Given the description of an element on the screen output the (x, y) to click on. 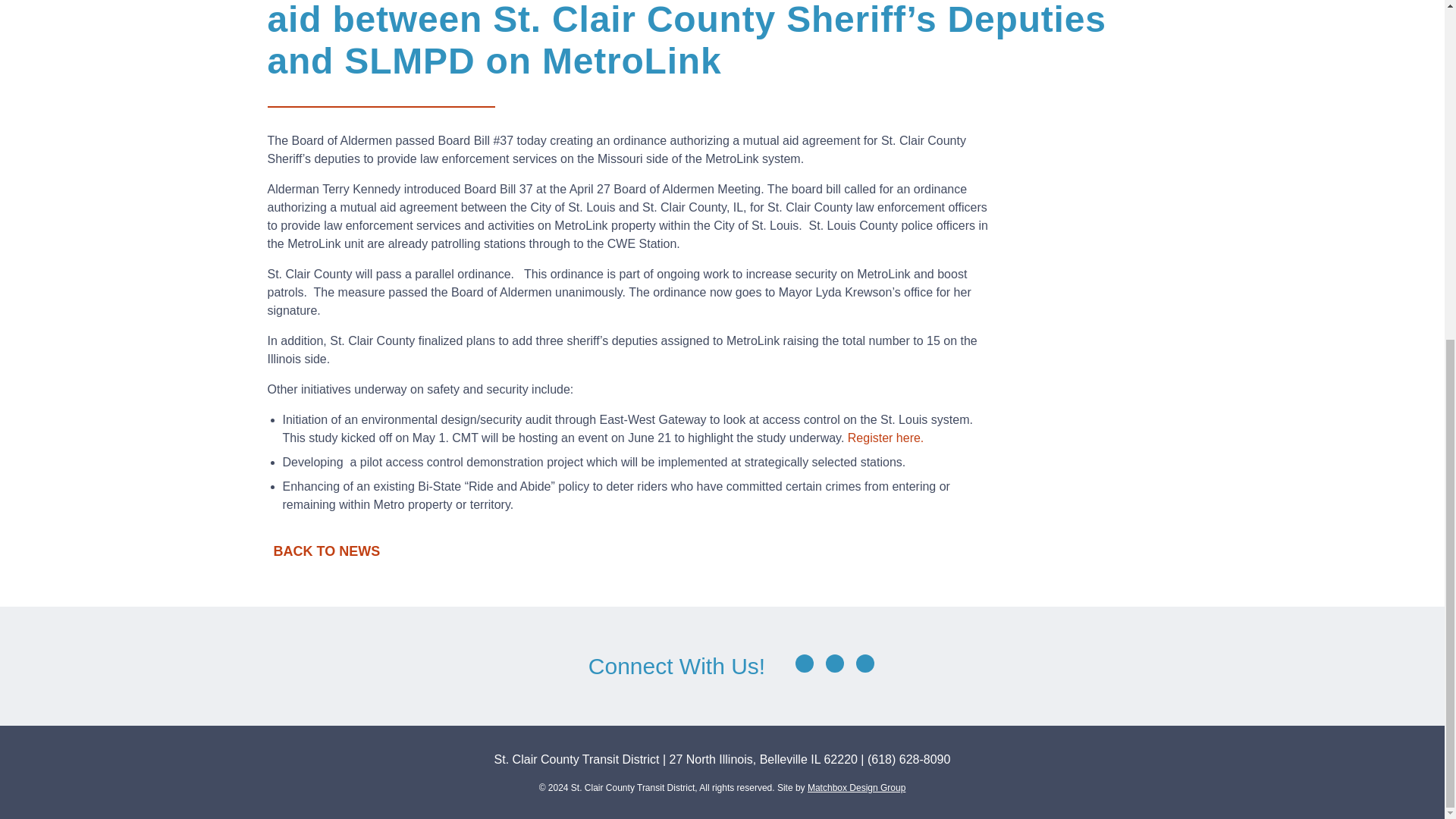
instagram (865, 663)
BACK TO NEWS (721, 550)
twitter (834, 663)
Register here.  (887, 437)
Matchbox Design Group (856, 787)
facebook (803, 663)
